Given the description of an element on the screen output the (x, y) to click on. 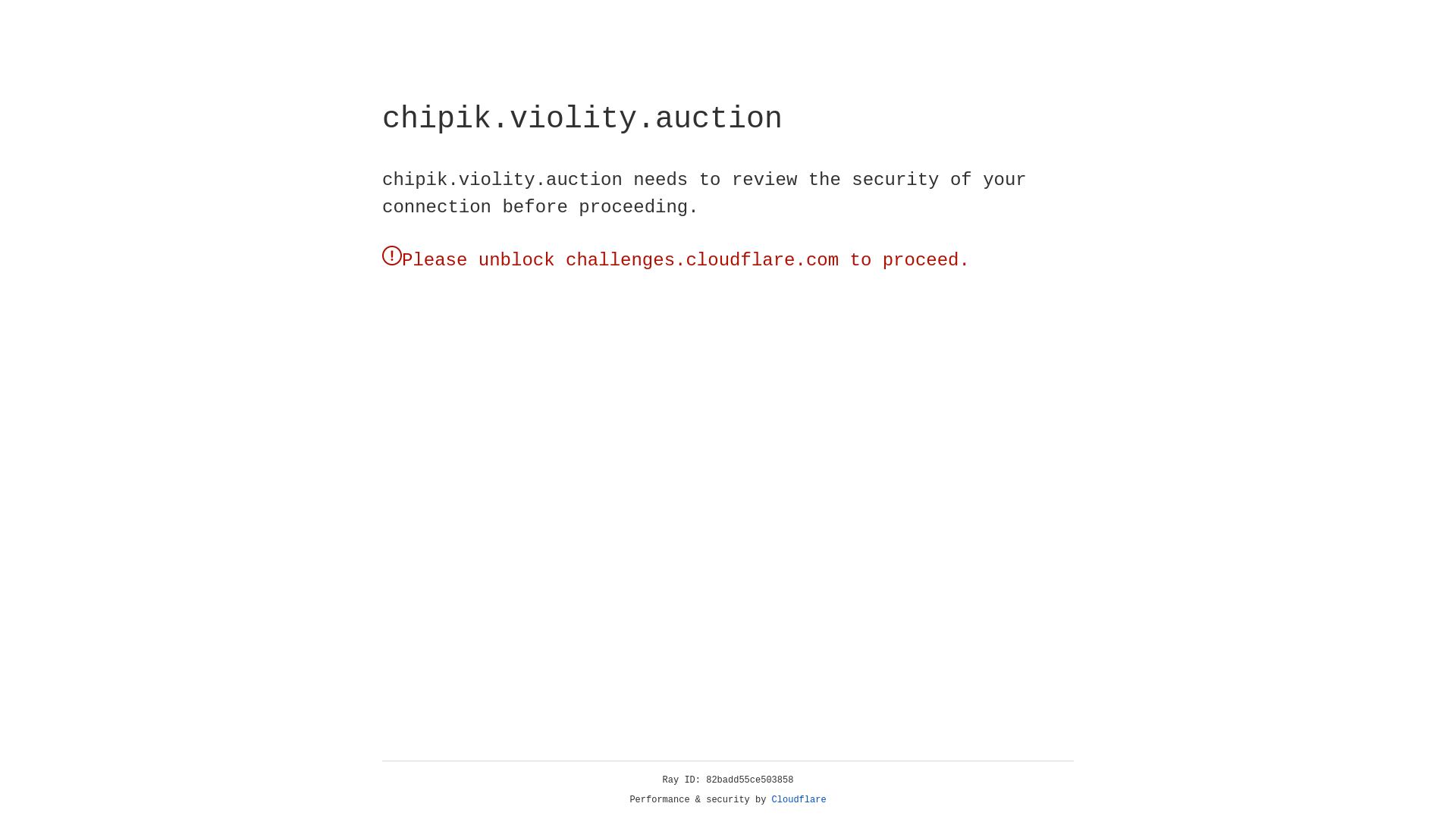
Cloudflare Element type: text (798, 799)
